Given the description of an element on the screen output the (x, y) to click on. 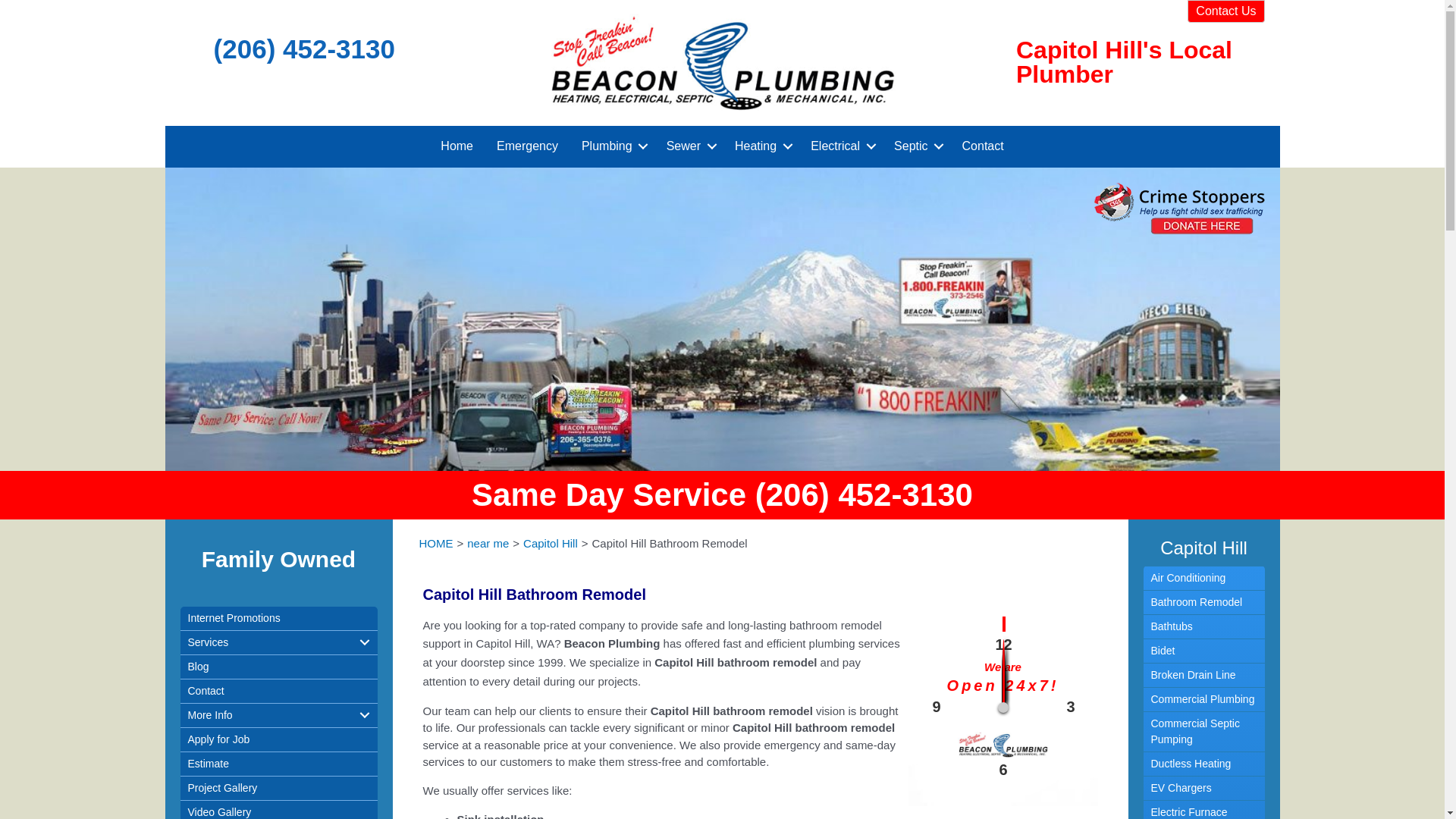
Home (456, 146)
Septic (915, 146)
Contact Us (1225, 11)
Sewer (688, 146)
Seattle Plumbing (722, 62)
Electrical (840, 146)
Emergency (526, 146)
Crime-Stoppers-340 (1178, 208)
Plumbing (611, 146)
Heating (760, 146)
